Given the description of an element on the screen output the (x, y) to click on. 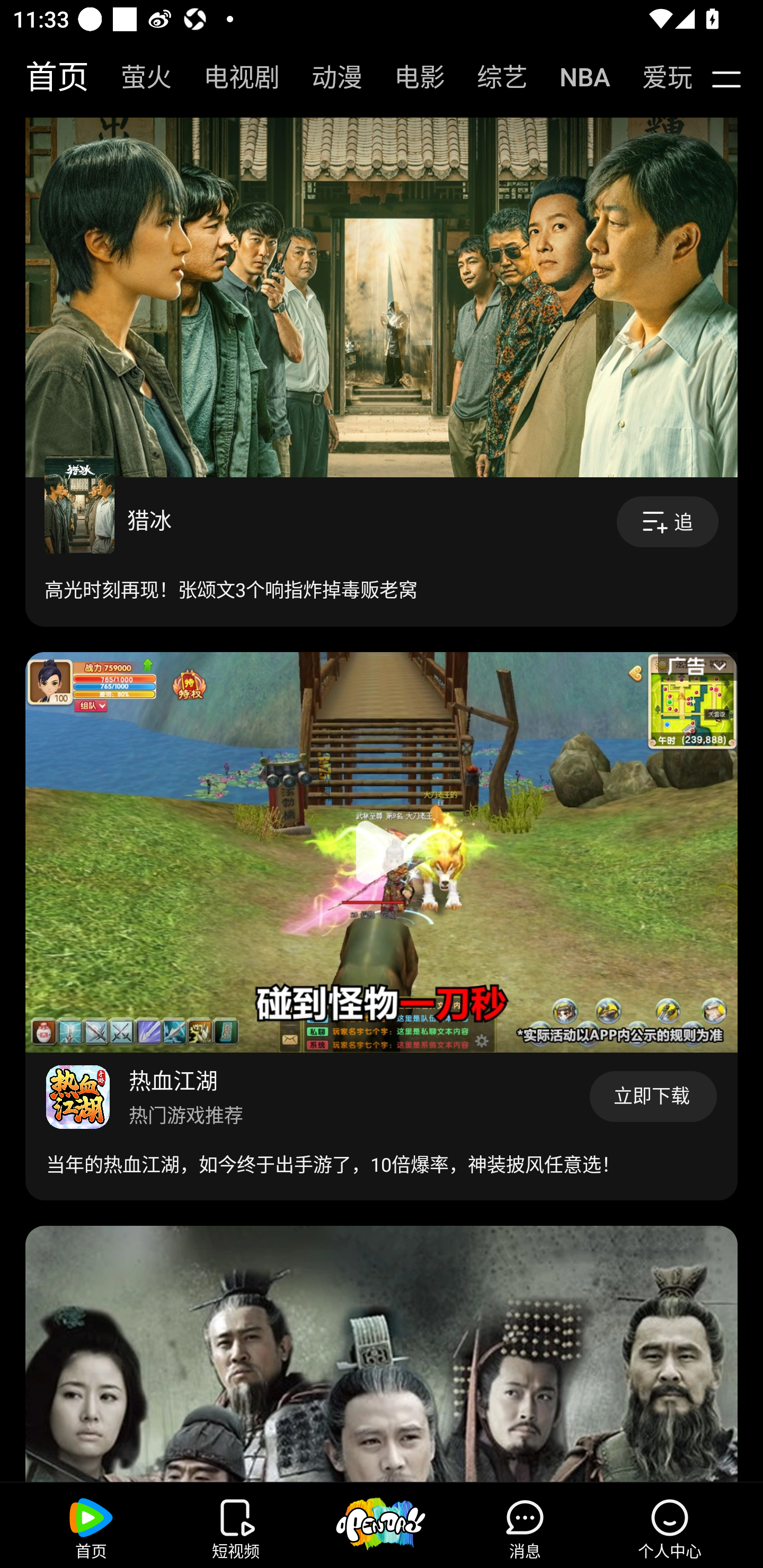
首页 (47, 77)
萤火 (136, 77)
电视剧 (231, 77)
动漫 (327, 77)
电影 (409, 77)
综艺 (492, 77)
NBA (575, 77)
爱玩 (653, 77)
猎冰 追 高光时刻再现！张颂文3个响指炸掉毒贩老窝 (381, 551)
追 (667, 522)
the ad tag (697, 674)
热血江湖 (172, 1080)
立即下载 (653, 1096)
热门游戏推荐 (185, 1114)
当年的热血江湖，如今终于出手游了，10倍爆率，神装披风任意选！ (332, 1163)
